Given the description of an element on the screen output the (x, y) to click on. 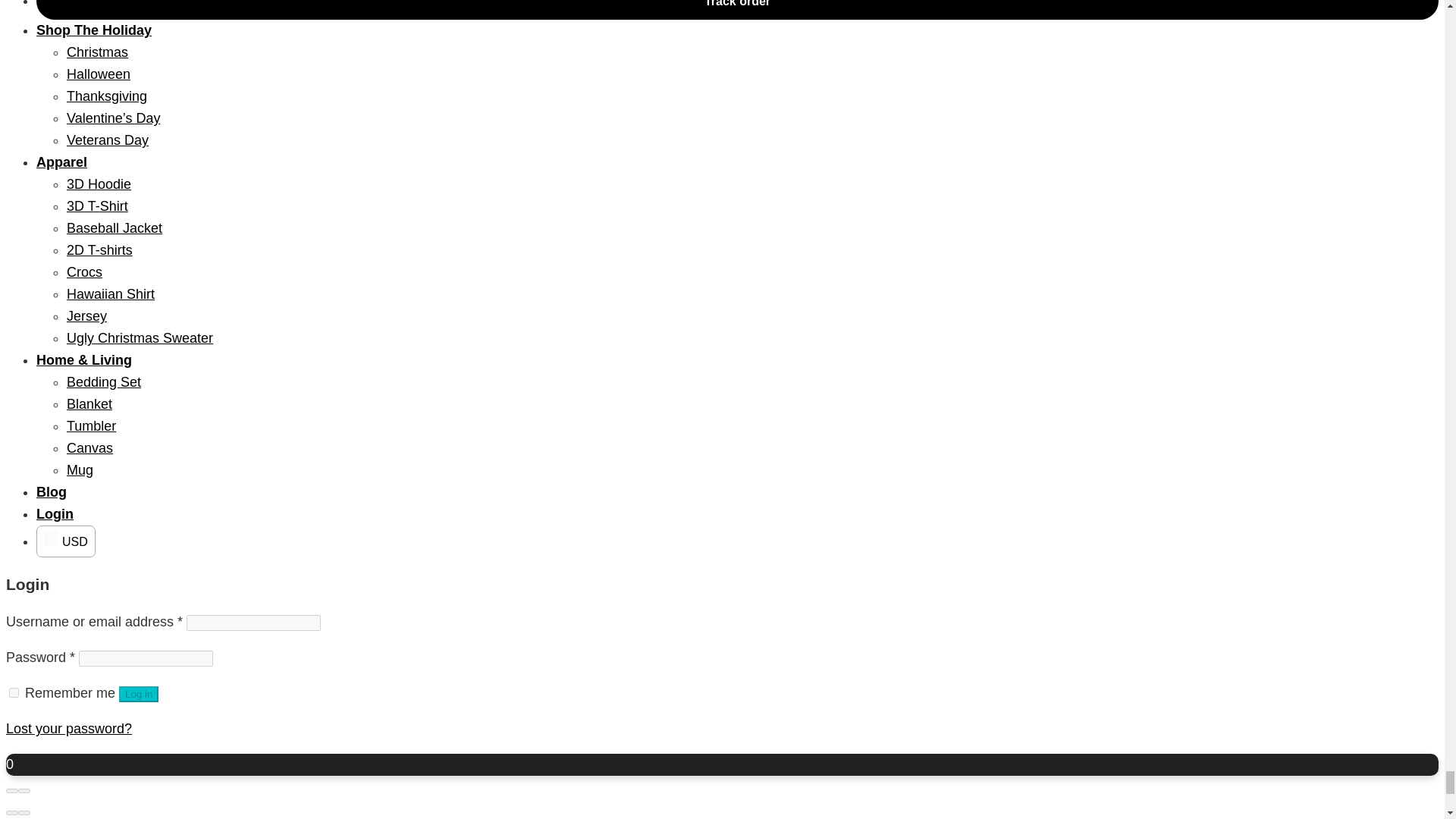
forever (13, 692)
